Given the description of an element on the screen output the (x, y) to click on. 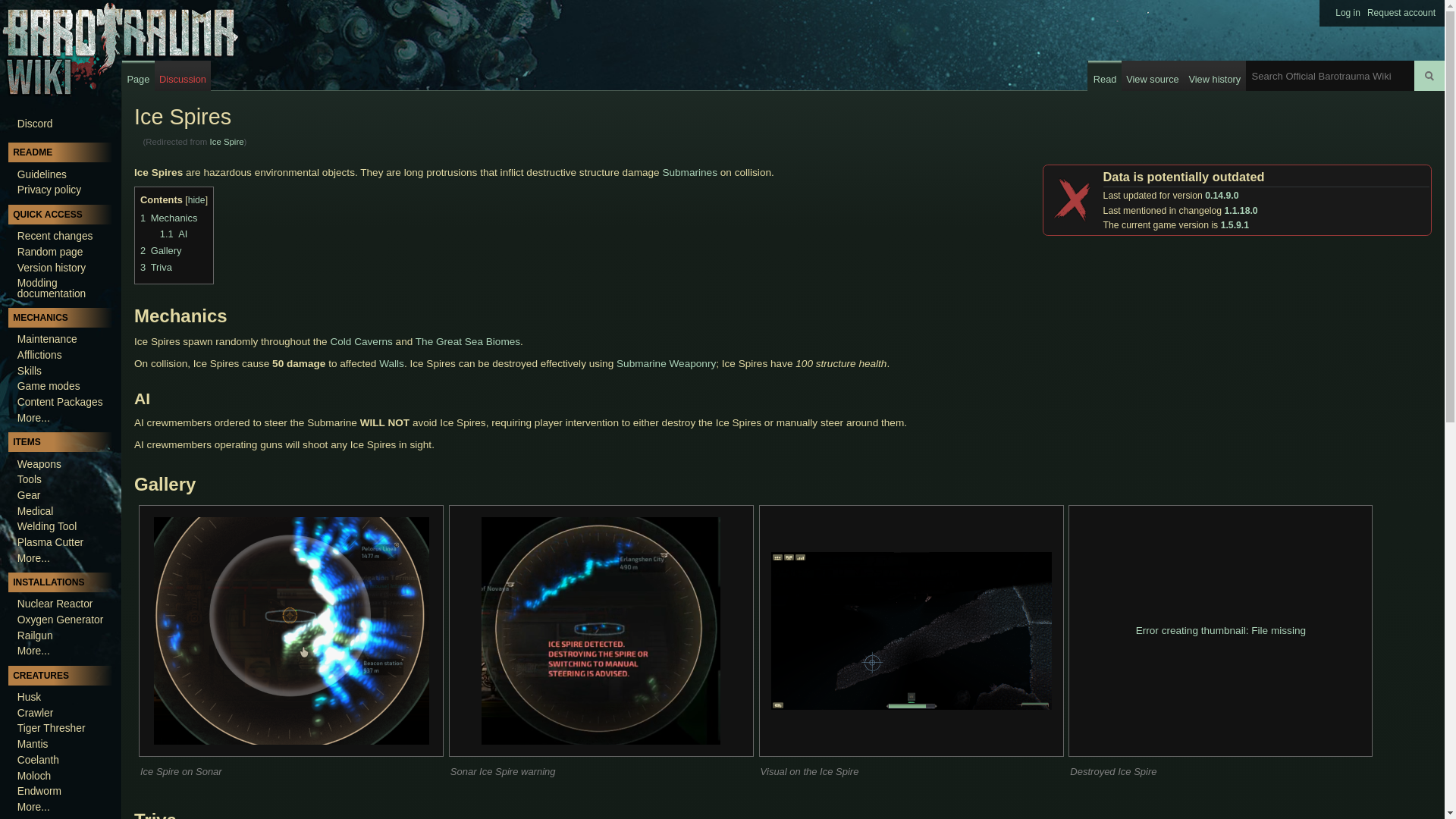
Biomes (502, 341)
3 Triva (155, 266)
Biomes (448, 341)
Version History (1235, 225)
Submarine Weapons (665, 363)
Biomes (360, 341)
Visual on the Ice Spire (911, 631)
Walls (391, 363)
Cold Caverns (360, 341)
Submarine (689, 172)
Ice Spire on Sonar (290, 630)
Ice Spire (226, 141)
Ice Spire (226, 141)
Sonar Ice Spire warning (600, 630)
1 Mechanics (167, 217)
